Given the description of an element on the screen output the (x, y) to click on. 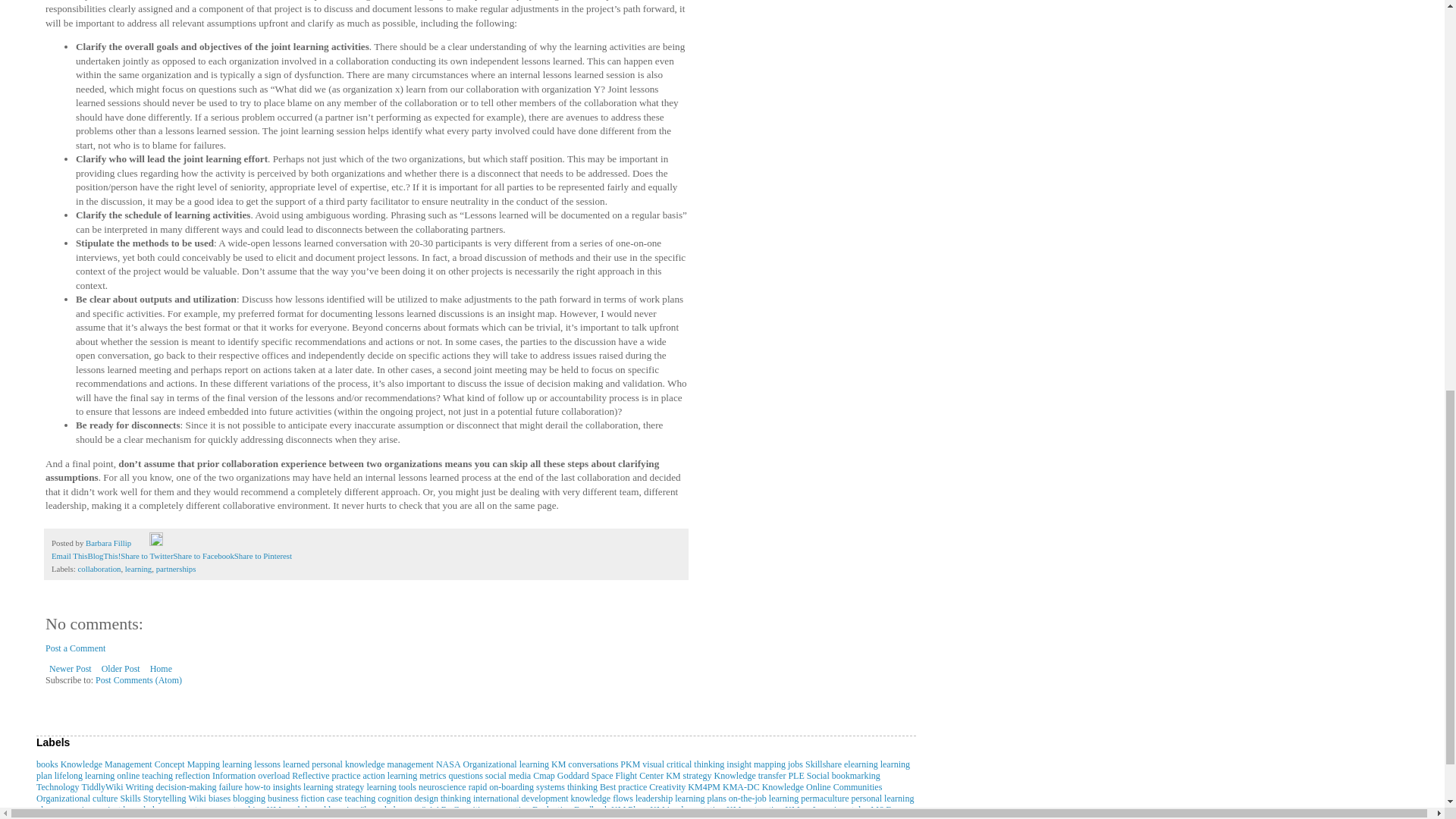
books (47, 764)
Newer Post (70, 669)
Email Post (141, 542)
learning (236, 764)
KM (558, 764)
Share to Pinterest (263, 555)
Edit Post (156, 542)
Share to Twitter (146, 555)
BlogThis! (103, 555)
conversations (592, 764)
